Given the description of an element on the screen output the (x, y) to click on. 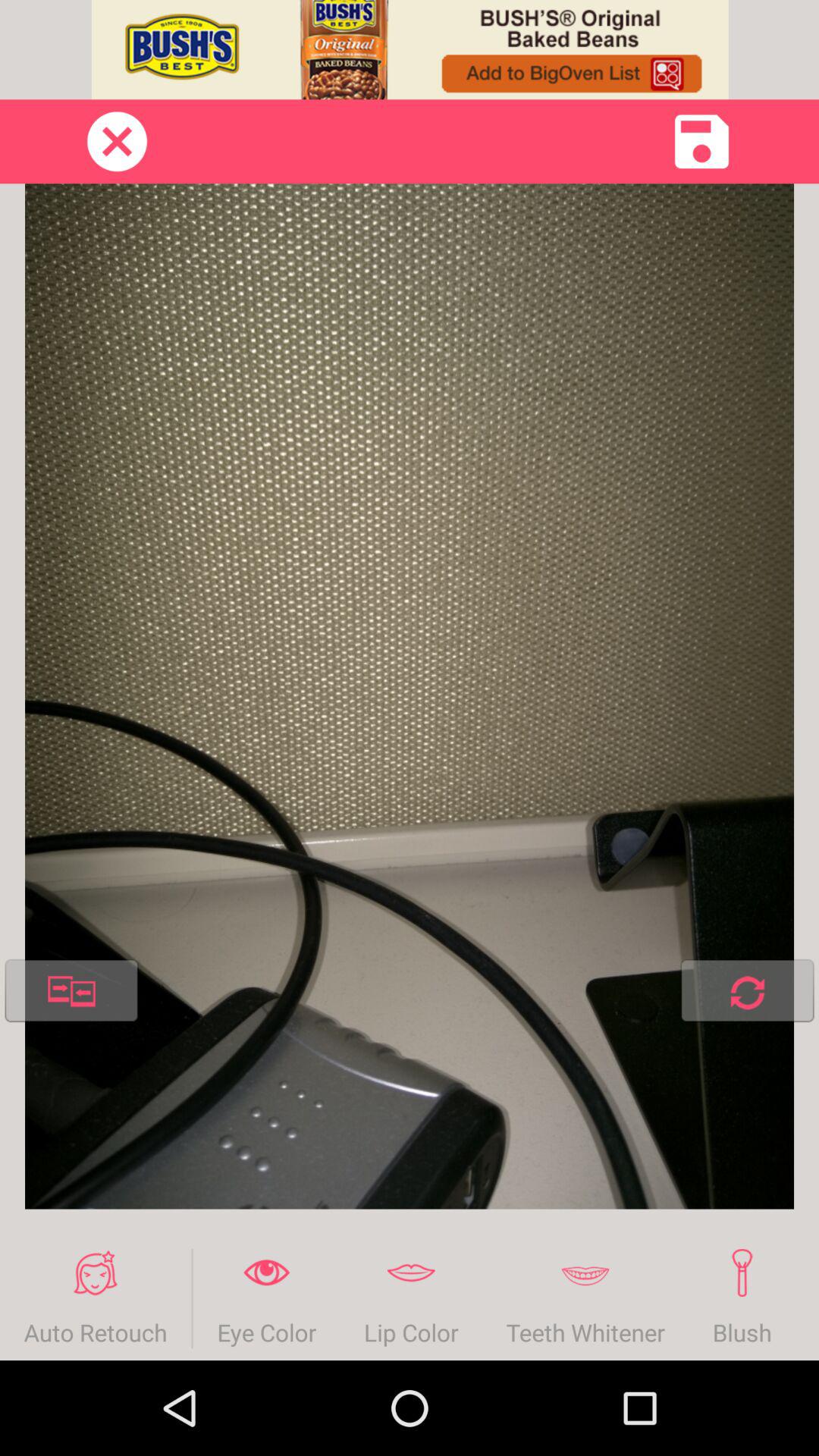
choose the icon next to the blush item (585, 1298)
